Given the description of an element on the screen output the (x, y) to click on. 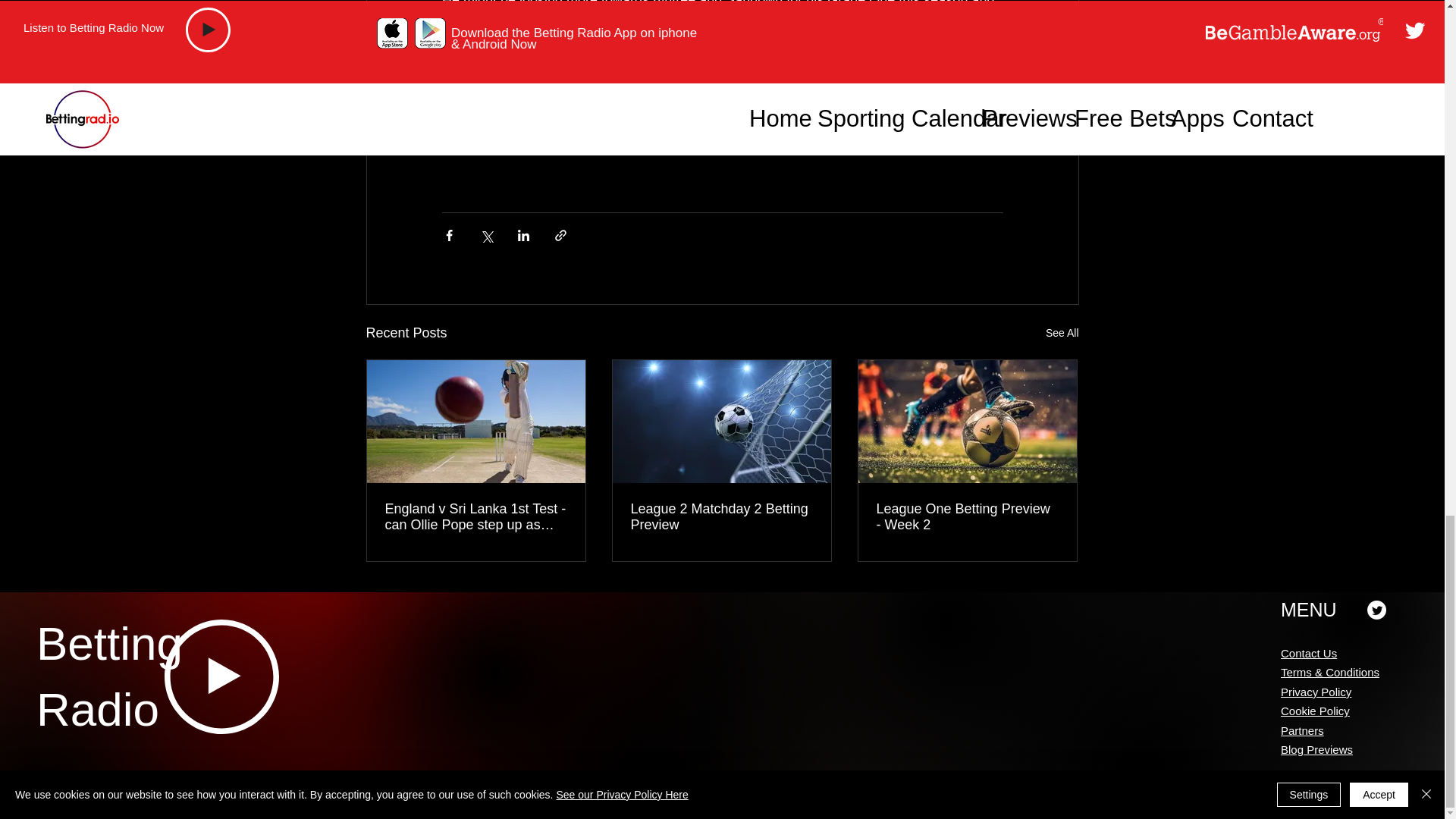
Cookie Policy (1315, 710)
Radio (97, 709)
Blog Previews (1316, 748)
League One Betting Preview - Week 2 (967, 517)
Partners (1302, 730)
See All (1061, 332)
Contact Us (1308, 653)
Privacy Policy (1316, 691)
League 2 Matchday 2 Betting Preview (721, 517)
